Given the description of an element on the screen output the (x, y) to click on. 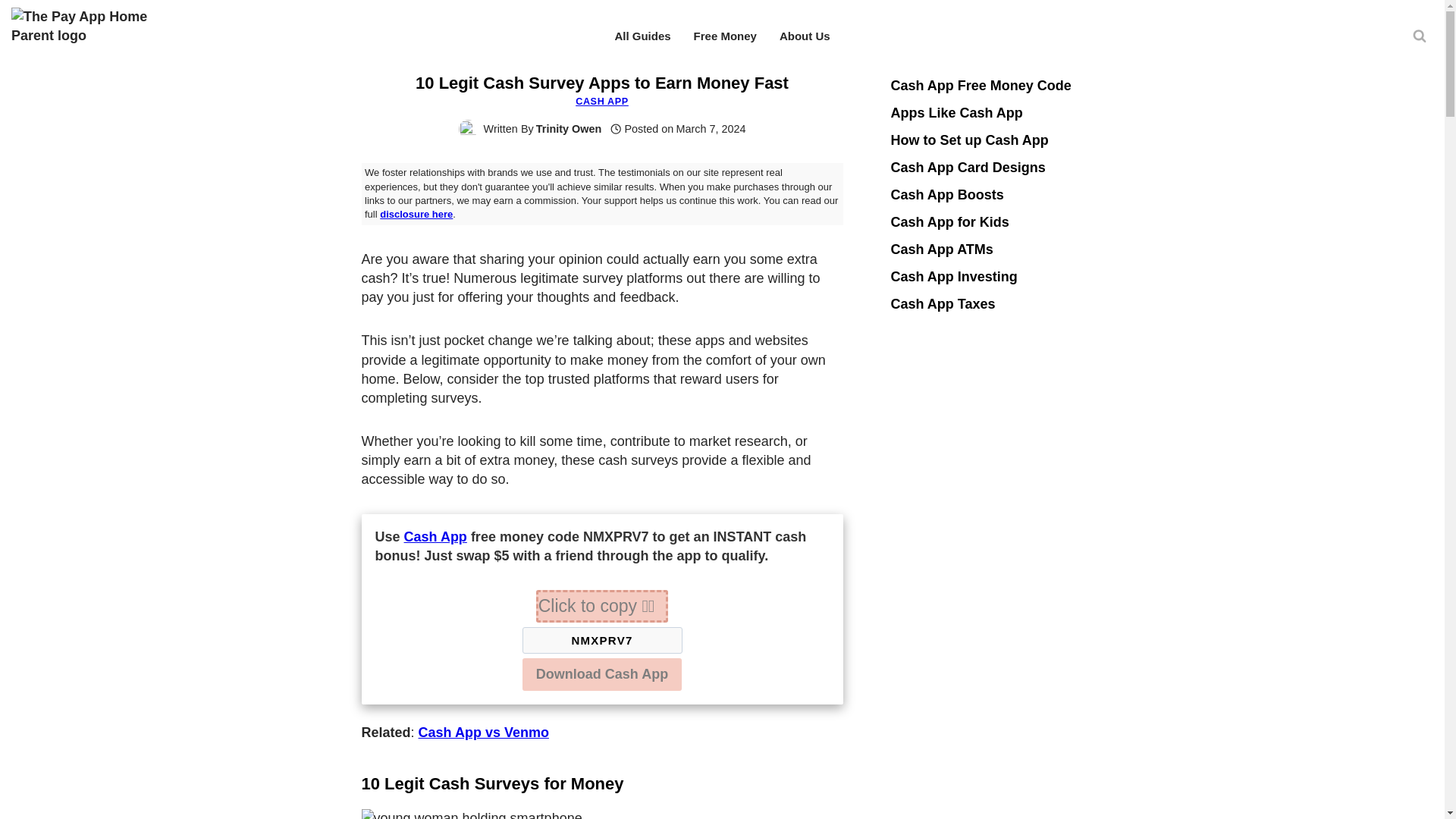
Cash App (435, 536)
disclosure here (416, 214)
Download Cash App (601, 674)
Free Money (725, 35)
Cash App vs Venmo (483, 732)
About Us (804, 35)
All Guides (641, 35)
Trinity Owen (568, 128)
Download Cash App (601, 673)
NMXPRV7 (601, 640)
CASH APP (601, 101)
